Given the description of an element on the screen output the (x, y) to click on. 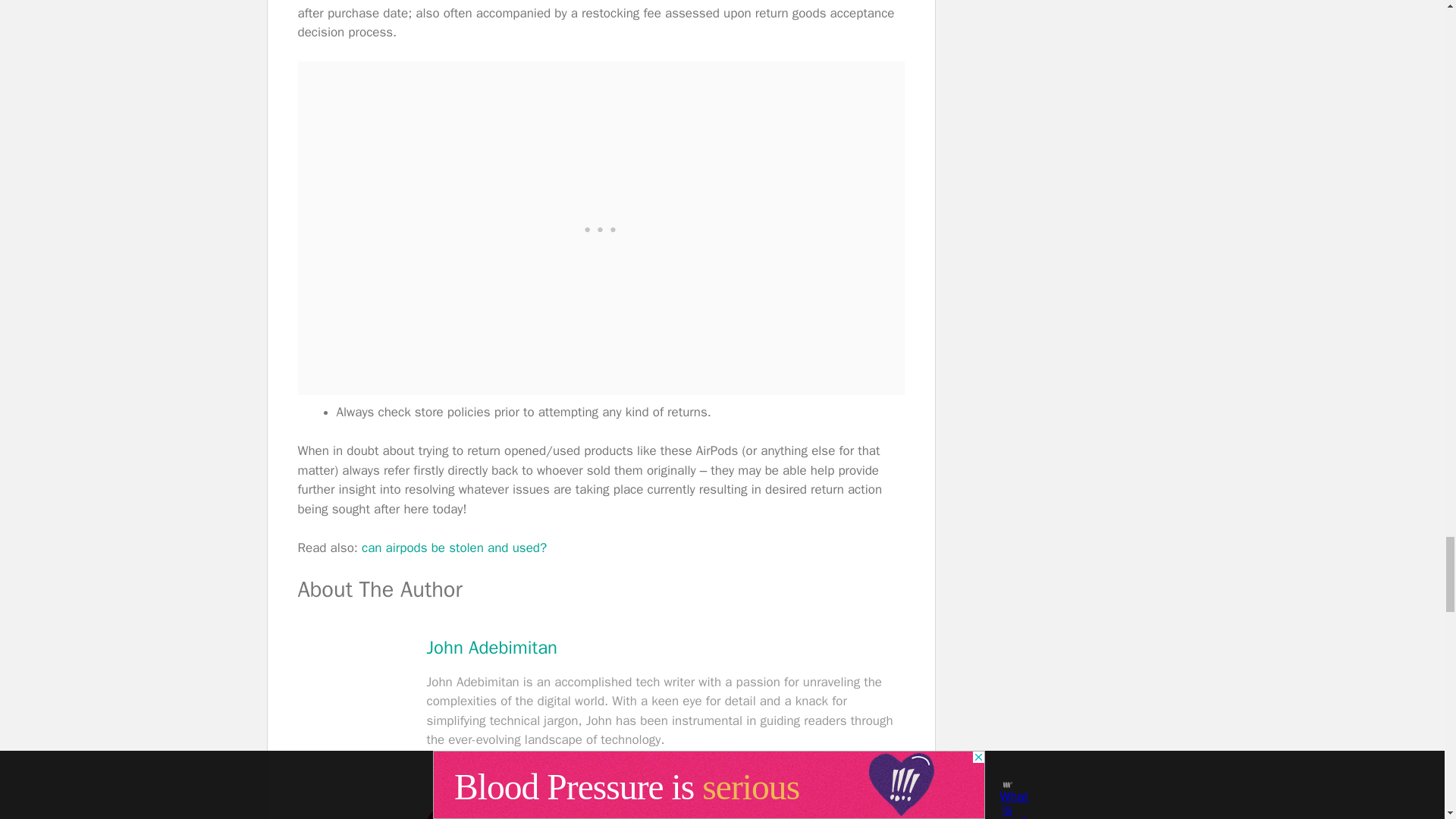
can airpods be stolen and used? (454, 547)
See author's posts (503, 778)
John Adebimitan (491, 647)
